Given the description of an element on the screen output the (x, y) to click on. 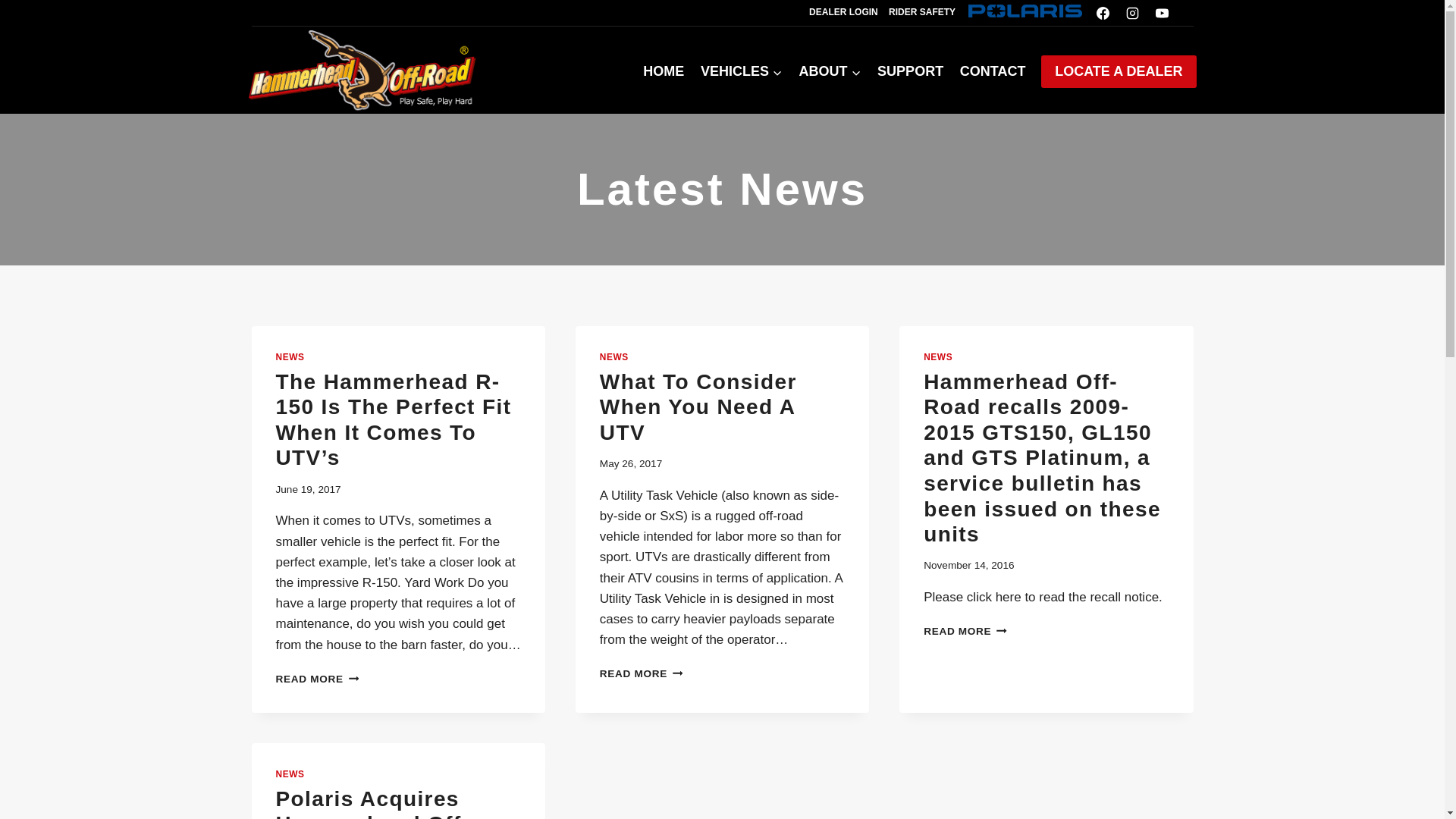
DEALER LOGIN (843, 12)
What To Consider When You Need A UTV (697, 407)
RIDER SAFETY (921, 12)
VEHICLES (741, 71)
SUPPORT (910, 71)
NEWS (290, 357)
NEWS (937, 357)
NEWS (613, 357)
HOME (663, 71)
CONTACT (992, 71)
NEWS (290, 774)
ABOUT (829, 71)
LOCATE A DEALER (1118, 71)
